Given the description of an element on the screen output the (x, y) to click on. 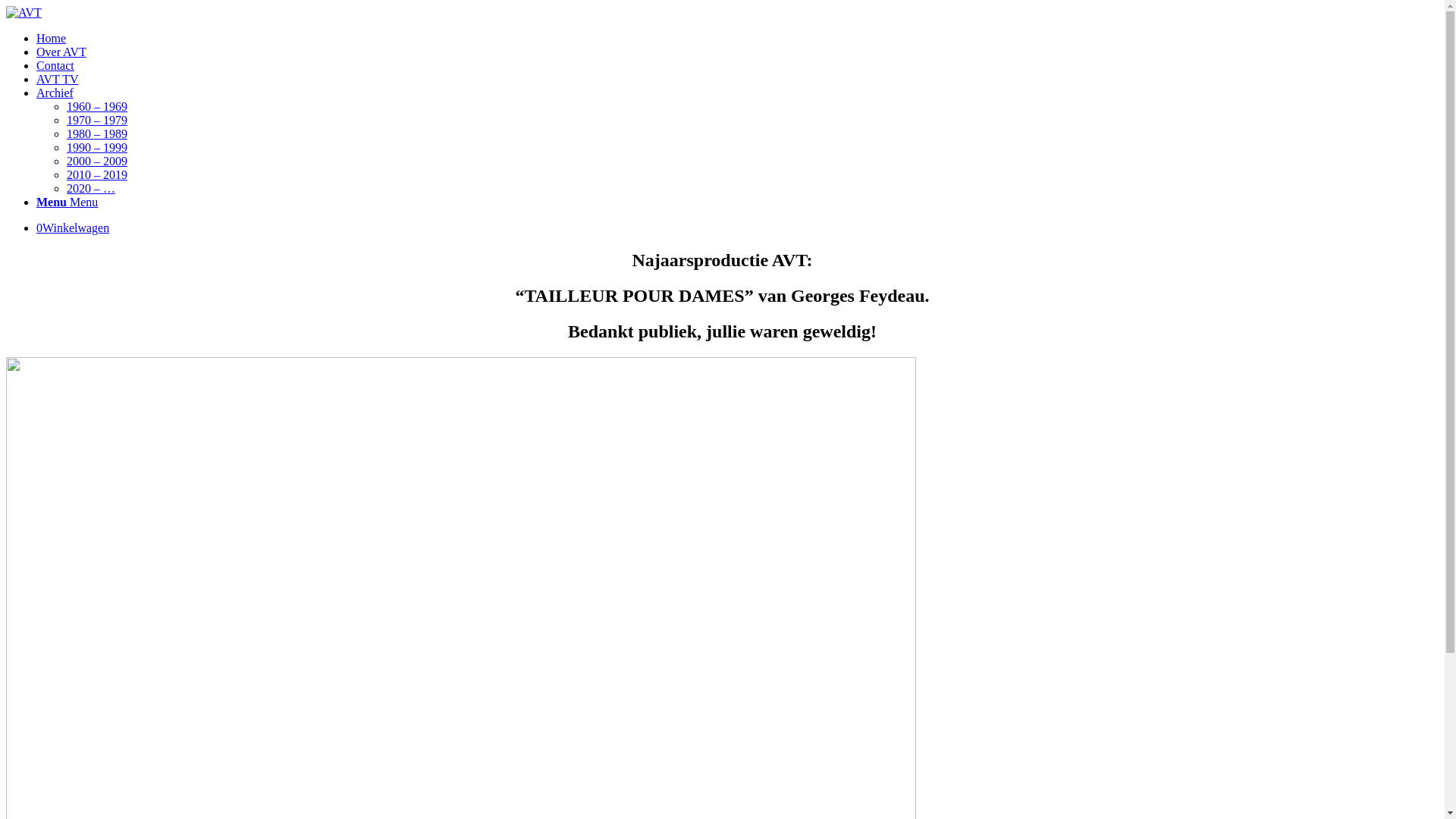
0Winkelwagen Element type: text (72, 227)
Menu Menu Element type: text (66, 201)
Home Element type: text (50, 37)
AVT TV Element type: text (57, 78)
Archief Element type: text (54, 92)
Logo-AVT Element type: hover (23, 12)
Contact Element type: text (55, 65)
Over AVT Element type: text (61, 51)
